Given the description of an element on the screen output the (x, y) to click on. 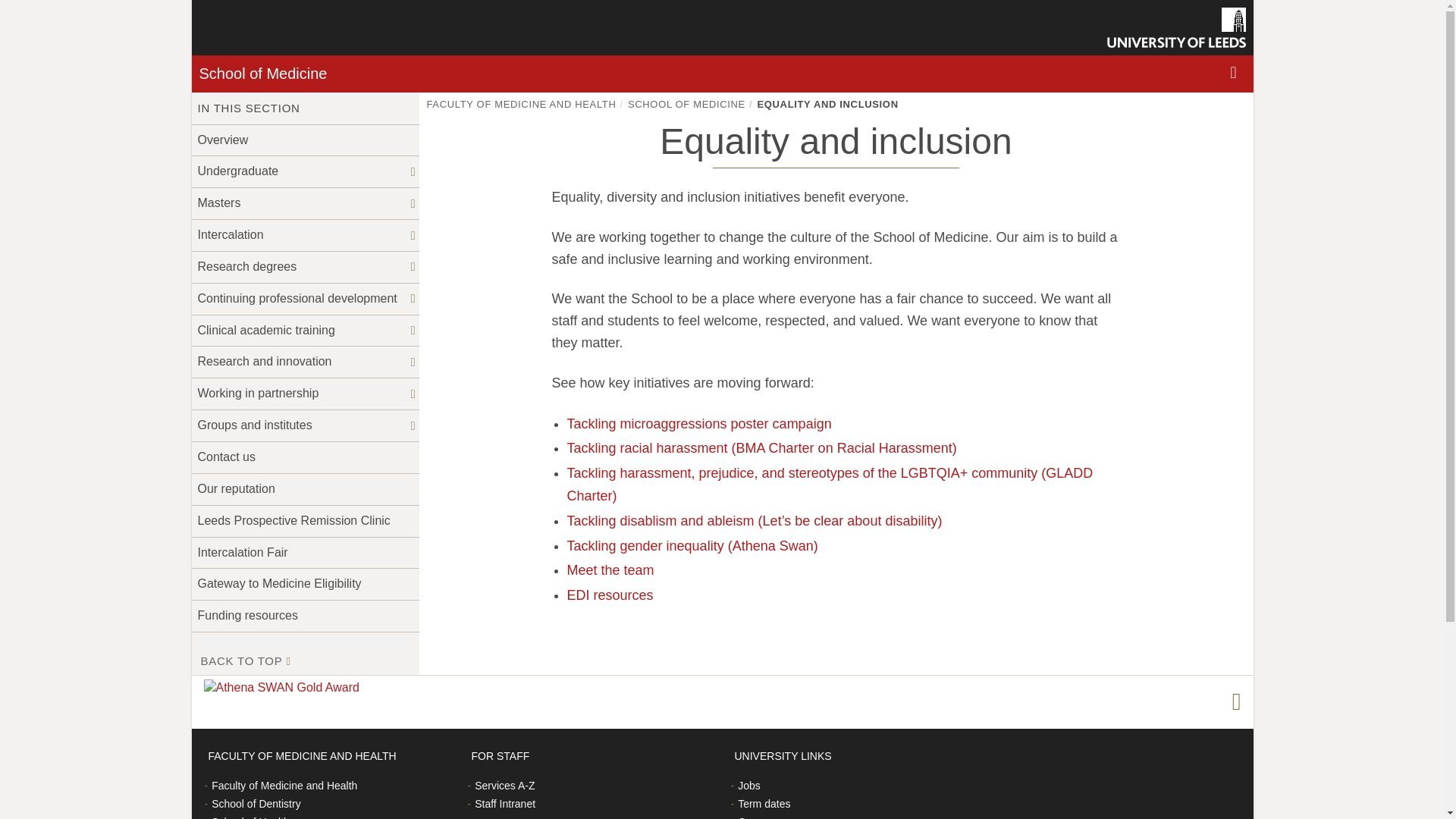
Visit Athena SWAN Gold (284, 687)
University of Leeds homepage (1176, 27)
Go to Twitter page (1236, 702)
